Given the description of an element on the screen output the (x, y) to click on. 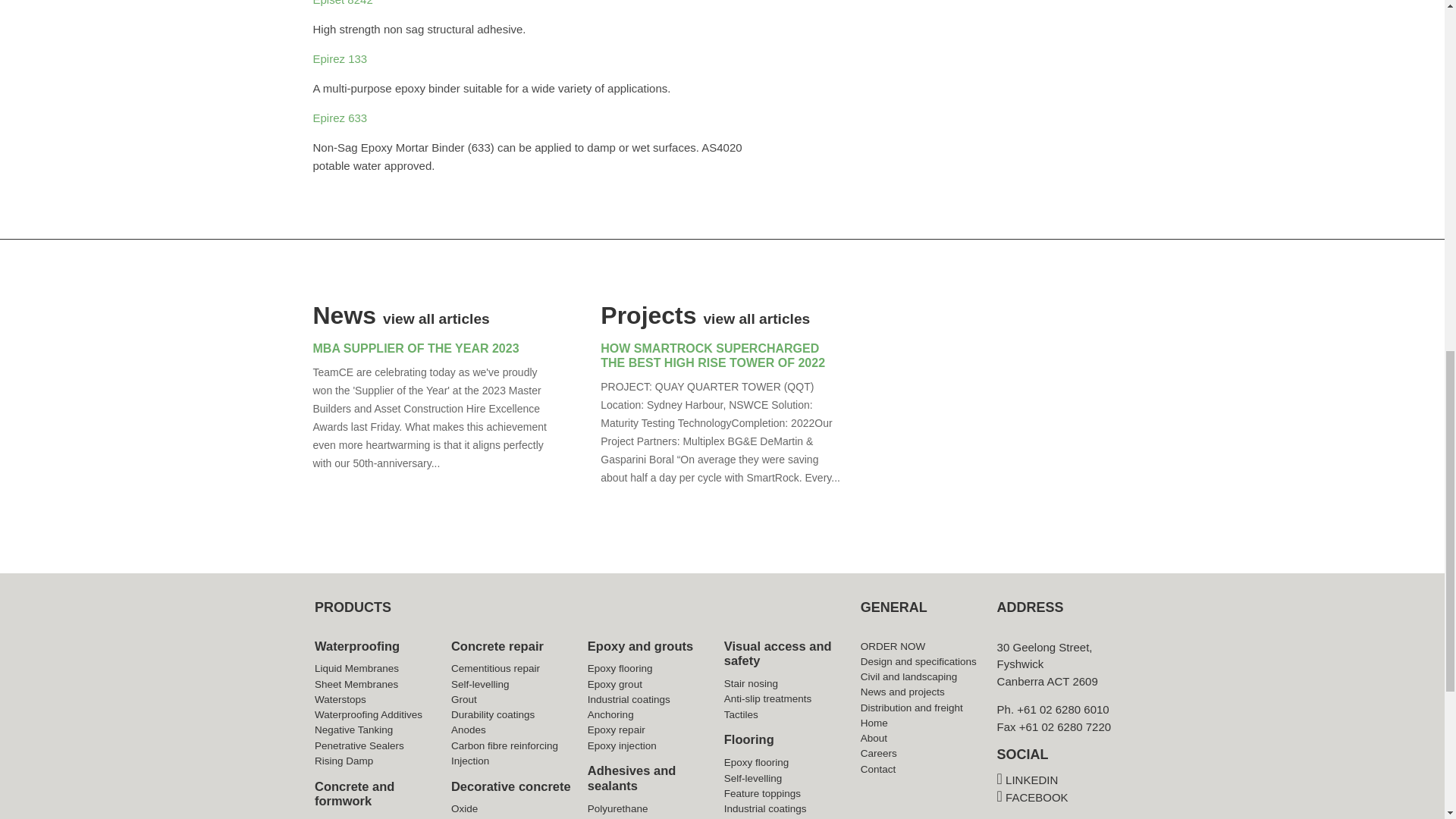
view all articles (756, 318)
view all articles (435, 318)
Parliament House, Canberra (1009, 412)
Epirez 133  (341, 58)
Waterstops (340, 699)
HOW SMARTROCK SUPERCHARGED THE BEST HIGH RISE TOWER OF 2022 (712, 355)
Liquid Membranes (356, 668)
Waterproofing Additives (368, 714)
Episet 8242  (344, 2)
